Given the description of an element on the screen output the (x, y) to click on. 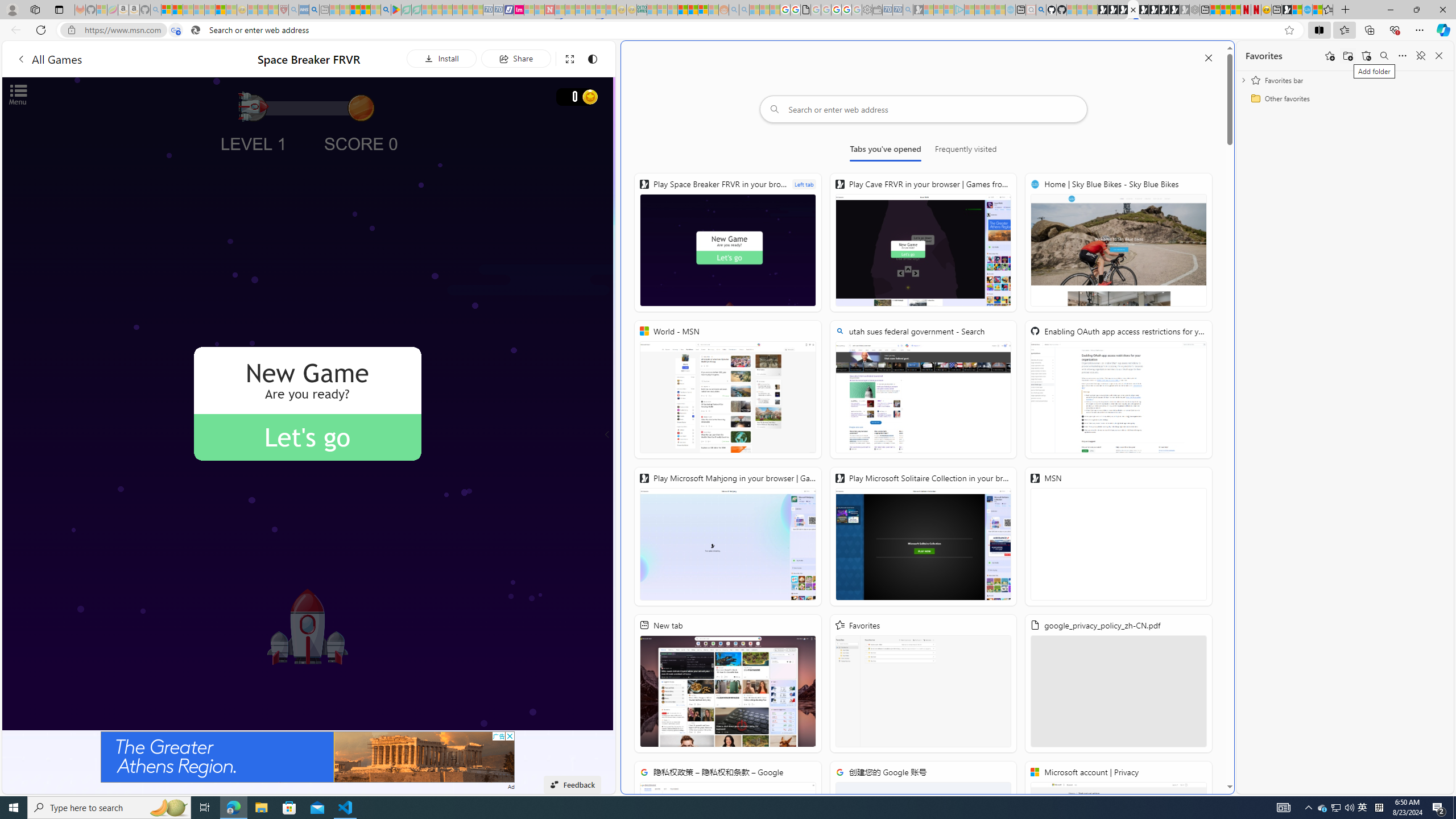
All Games (49, 58)
Search or enter web address (922, 108)
All Games (113, 58)
